Given the description of an element on the screen output the (x, y) to click on. 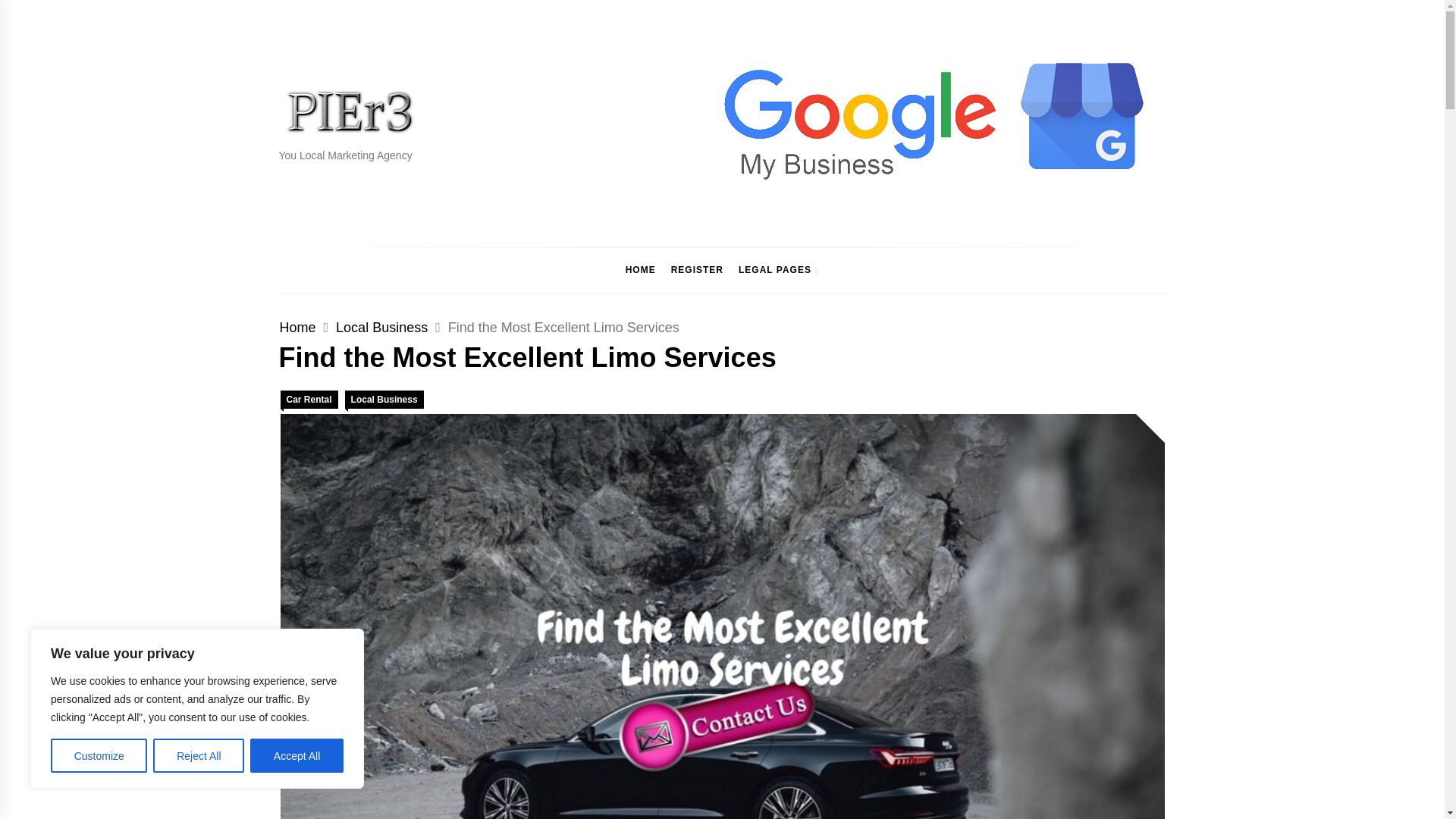
Local Business (384, 399)
Accept All (296, 755)
LEGAL PAGES (778, 270)
Pier 3 Syndication (390, 162)
Customize (98, 755)
Reject All (198, 755)
Car Rental (309, 399)
REGISTER (696, 270)
Header Banner (923, 121)
HOME (640, 270)
Home (297, 327)
Local Business (382, 327)
